Given the description of an element on the screen output the (x, y) to click on. 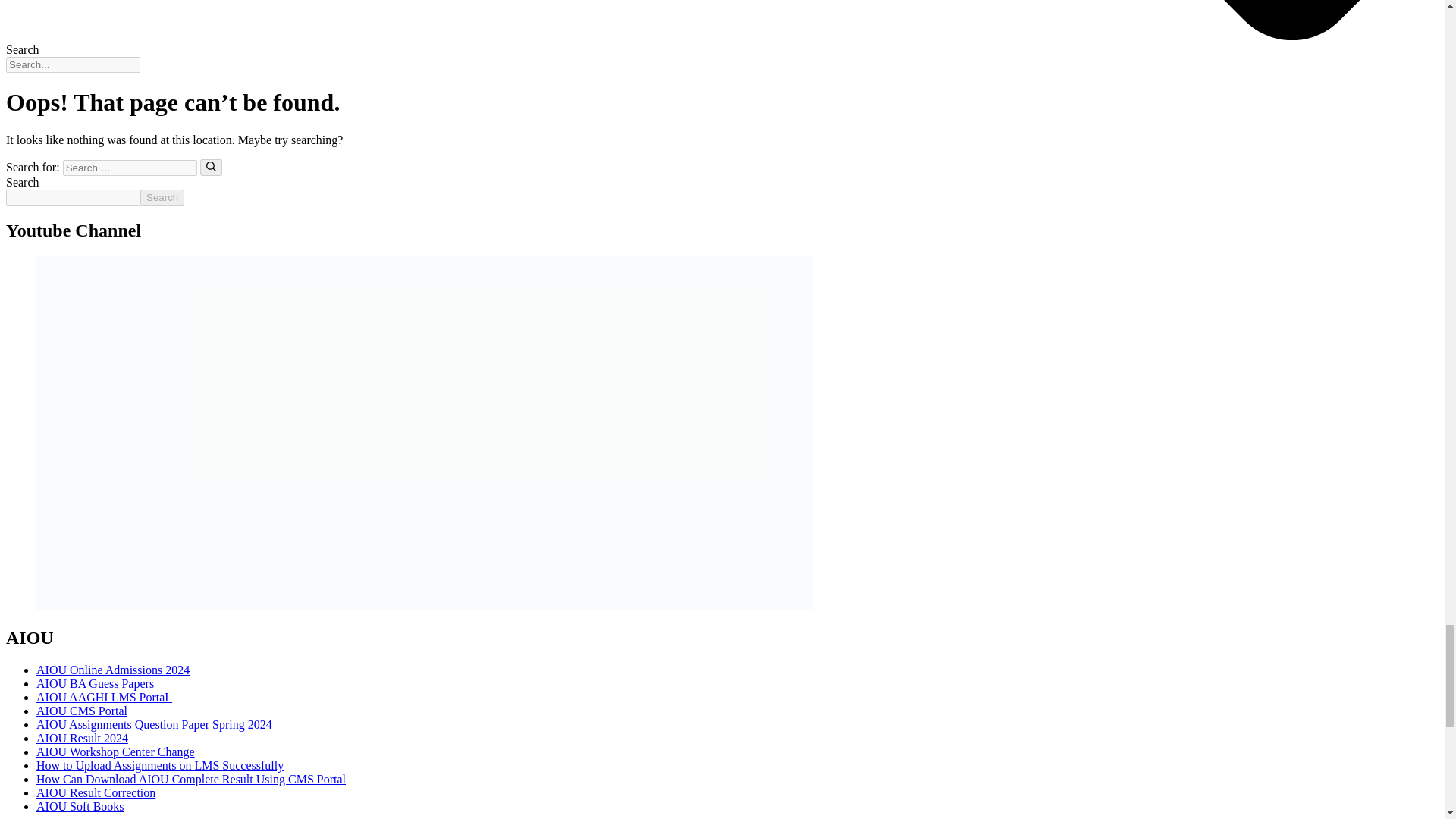
Search (161, 197)
How Can Download AIOU Complete Result Using CMS Portal (191, 779)
AIOU Assignments Question Paper Spring 2024 (154, 724)
AIOU AAGHI LMS PortaL (103, 697)
AIOU Result 2024 (82, 738)
AIOU Soft Books (79, 806)
AIOU BA Guess Papers (95, 683)
AIOU Result Correction (95, 792)
How to Upload Assignments on LMS Successfully (159, 765)
AIOU Workshop Center Change (115, 751)
Search for: (129, 167)
AIOU CMS Portal (82, 710)
AIOU Online Admissions 2024 (112, 669)
